Given the description of an element on the screen output the (x, y) to click on. 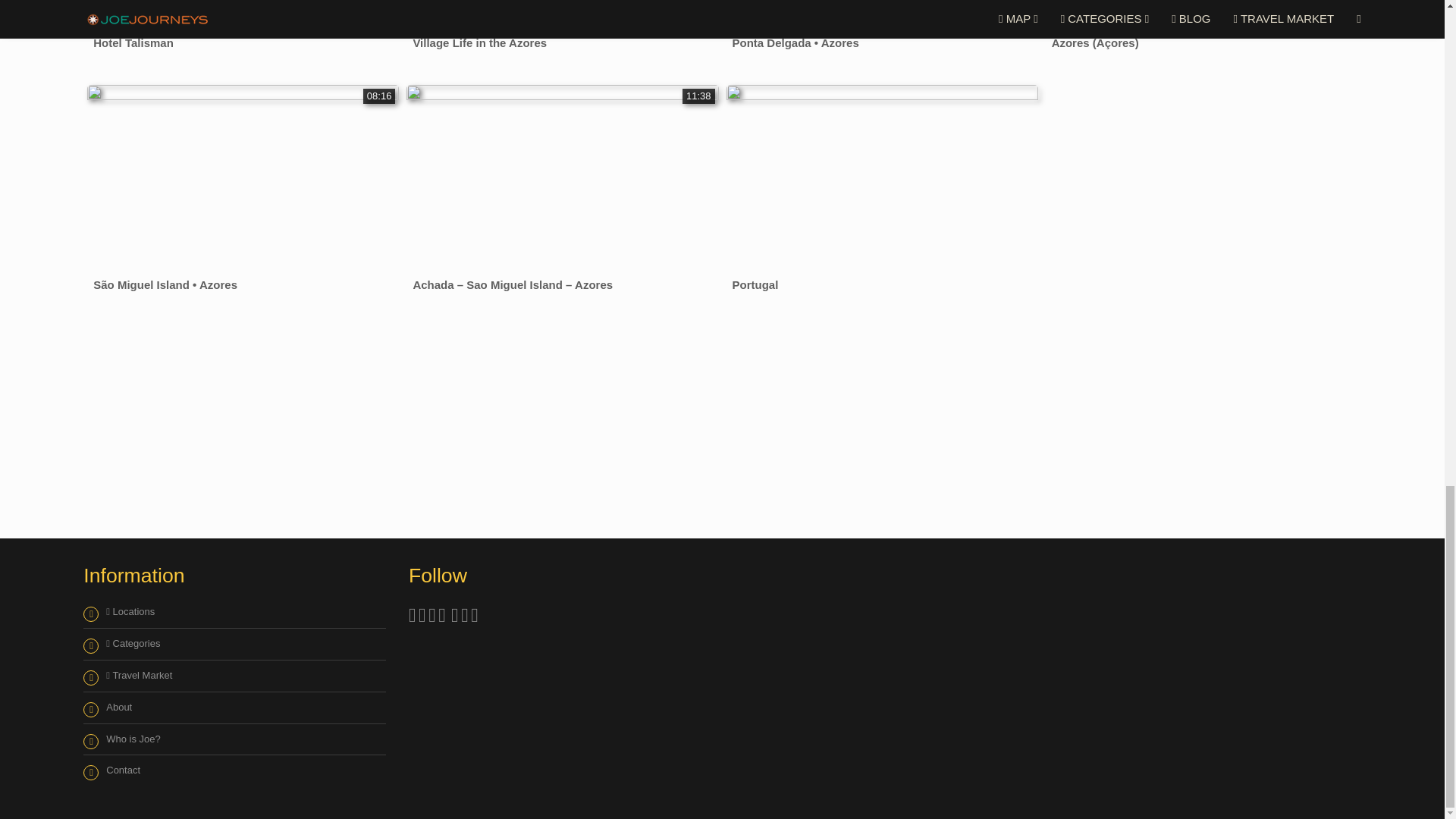
Village Life in the Azores (479, 42)
Hotel Talisman (133, 42)
Portugal (755, 284)
